Given the description of an element on the screen output the (x, y) to click on. 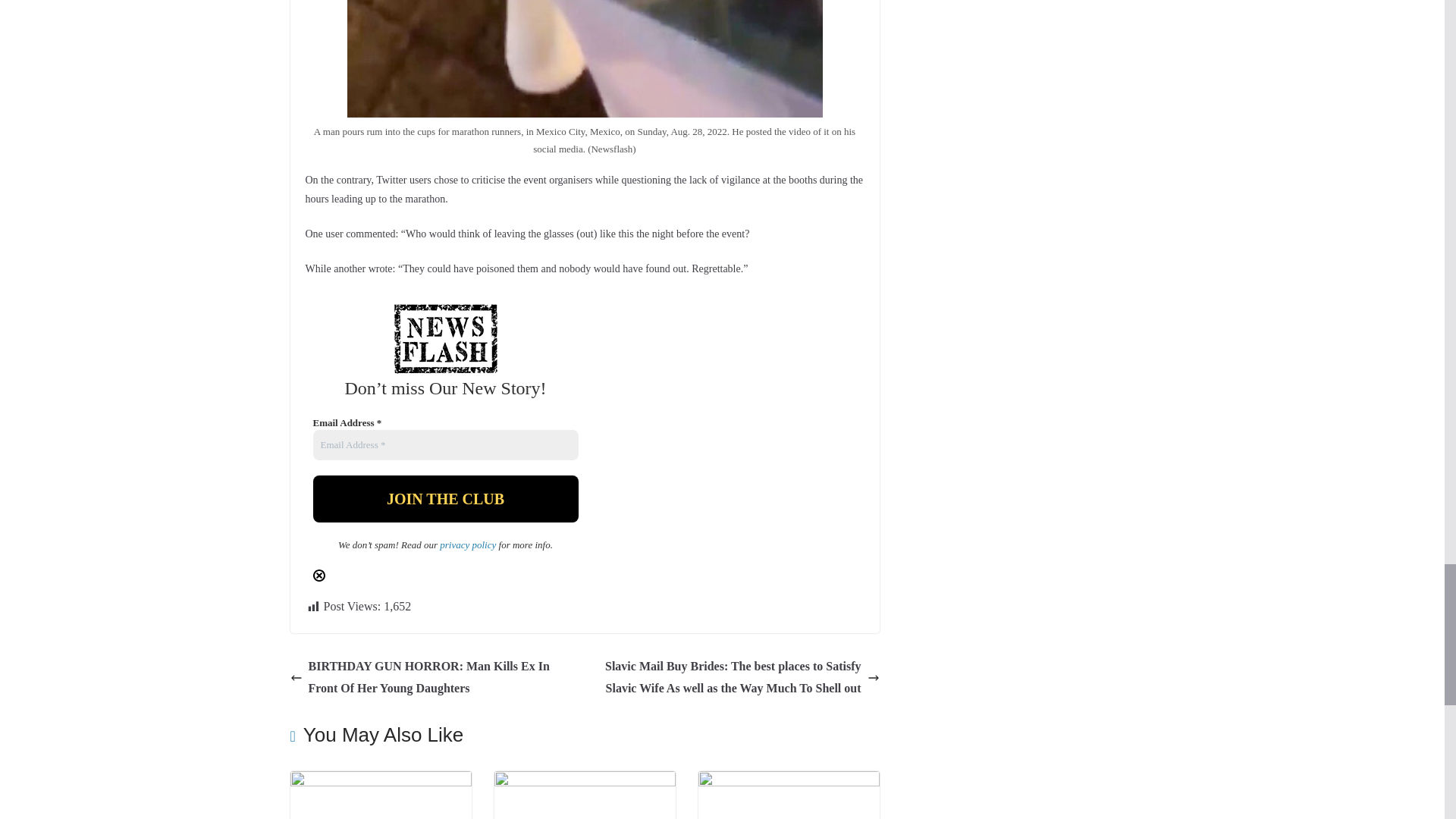
Email Address (445, 444)
JOIN THE CLUB (445, 498)
privacy policy (467, 544)
JOIN THE CLUB (445, 498)
